Given the description of an element on the screen output the (x, y) to click on. 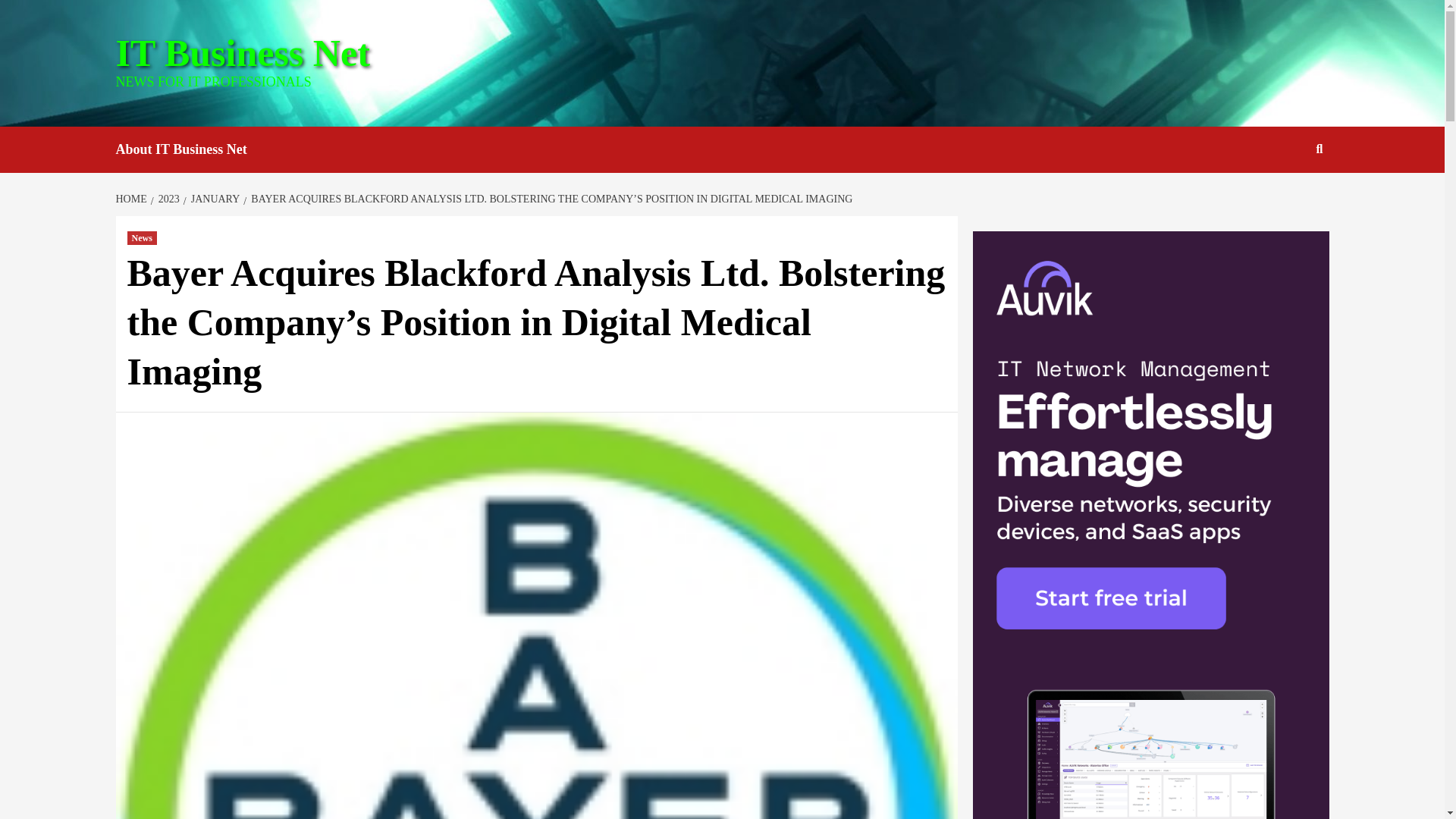
IT Business Net (242, 52)
HOME (132, 198)
JANUARY (213, 198)
Search (1283, 197)
News (142, 237)
Search (1319, 149)
About IT Business Net (192, 149)
2023 (167, 198)
